Given the description of an element on the screen output the (x, y) to click on. 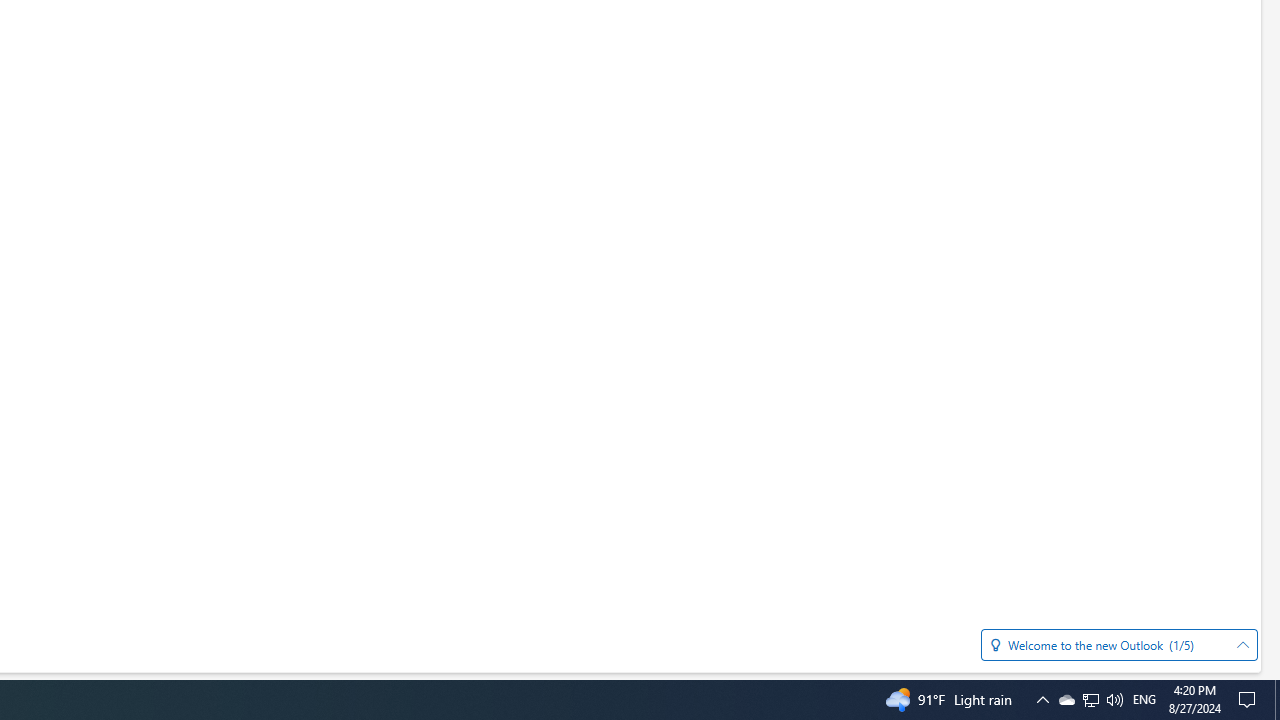
Tray Input Indicator - English (United States) (1144, 699)
